Given the description of an element on the screen output the (x, y) to click on. 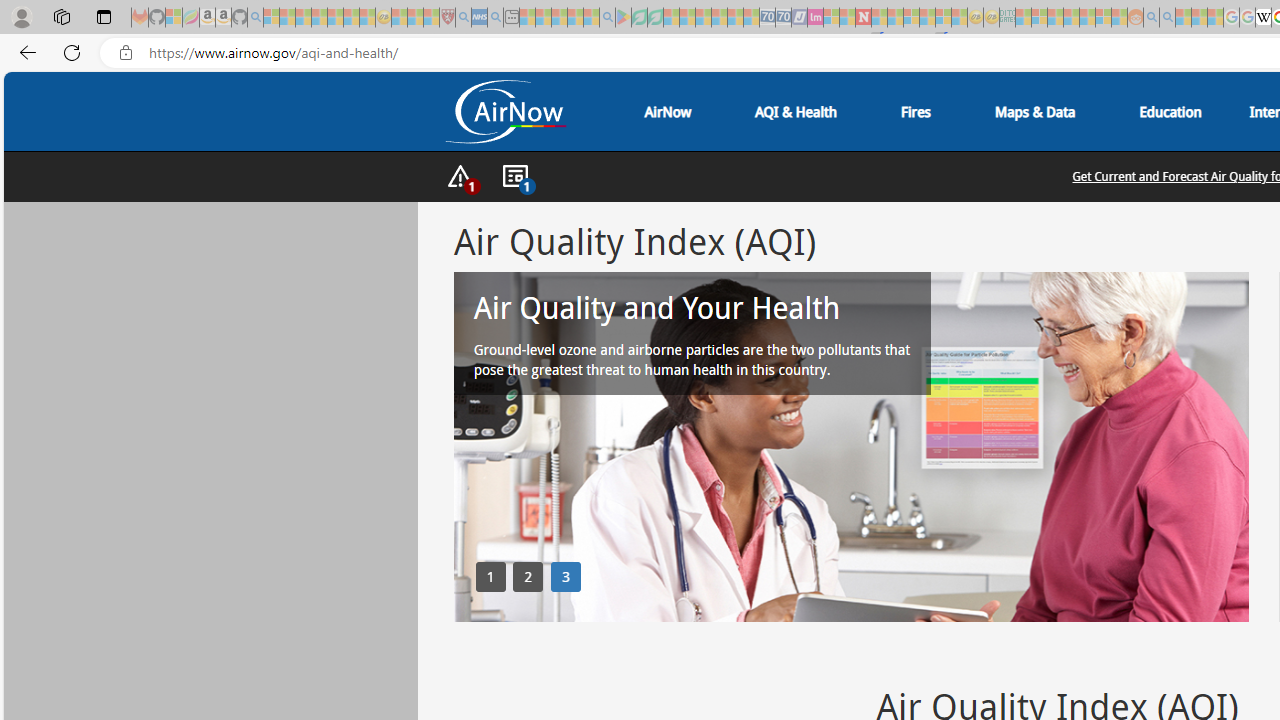
3 (565, 575)
